Given the description of an element on the screen output the (x, y) to click on. 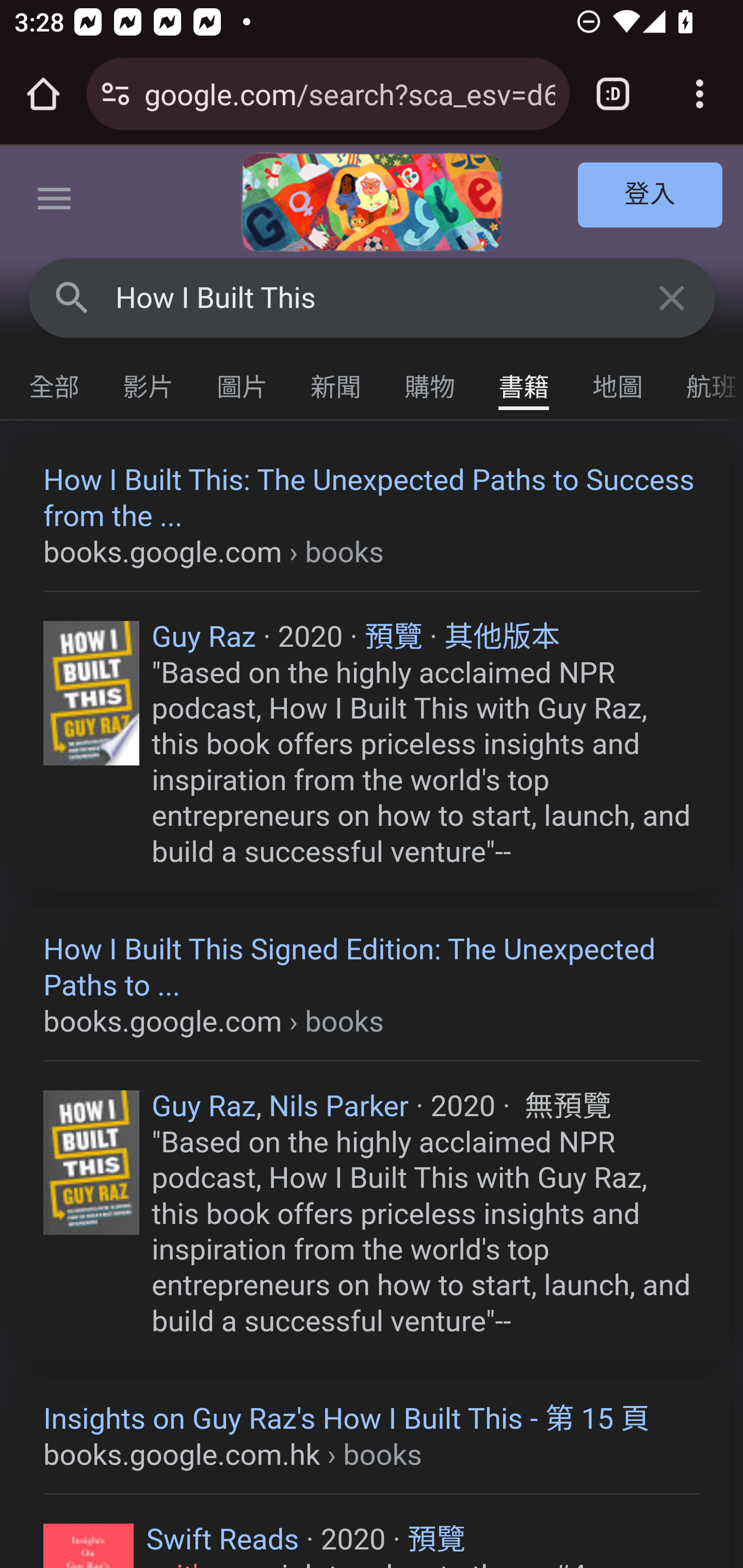
Open the home page (43, 93)
Connection is secure (115, 93)
Switch or close tabs (612, 93)
Customize and control Google Chrome (699, 93)
主選單 (54, 202)
登入 (650, 195)
Google 搜尋 (71, 296)
清除搜尋內容 (672, 296)
How I Built This (372, 297)
全部 (54, 382)
影片 (148, 382)
圖片 (242, 382)
新聞 (336, 382)
購物 (430, 382)
地圖 (618, 382)
航班 (703, 382)
Guy Raz (203, 637)
預覽 (393, 637)
其他版本 (502, 637)
Guy Raz (203, 1106)
Nils Parker (338, 1106)
Insights on Guy Raz's How I Built This - 第 15 頁 (372, 1437)
Swift Reads (221, 1538)
預覽 (435, 1538)
